Given the description of an element on the screen output the (x, y) to click on. 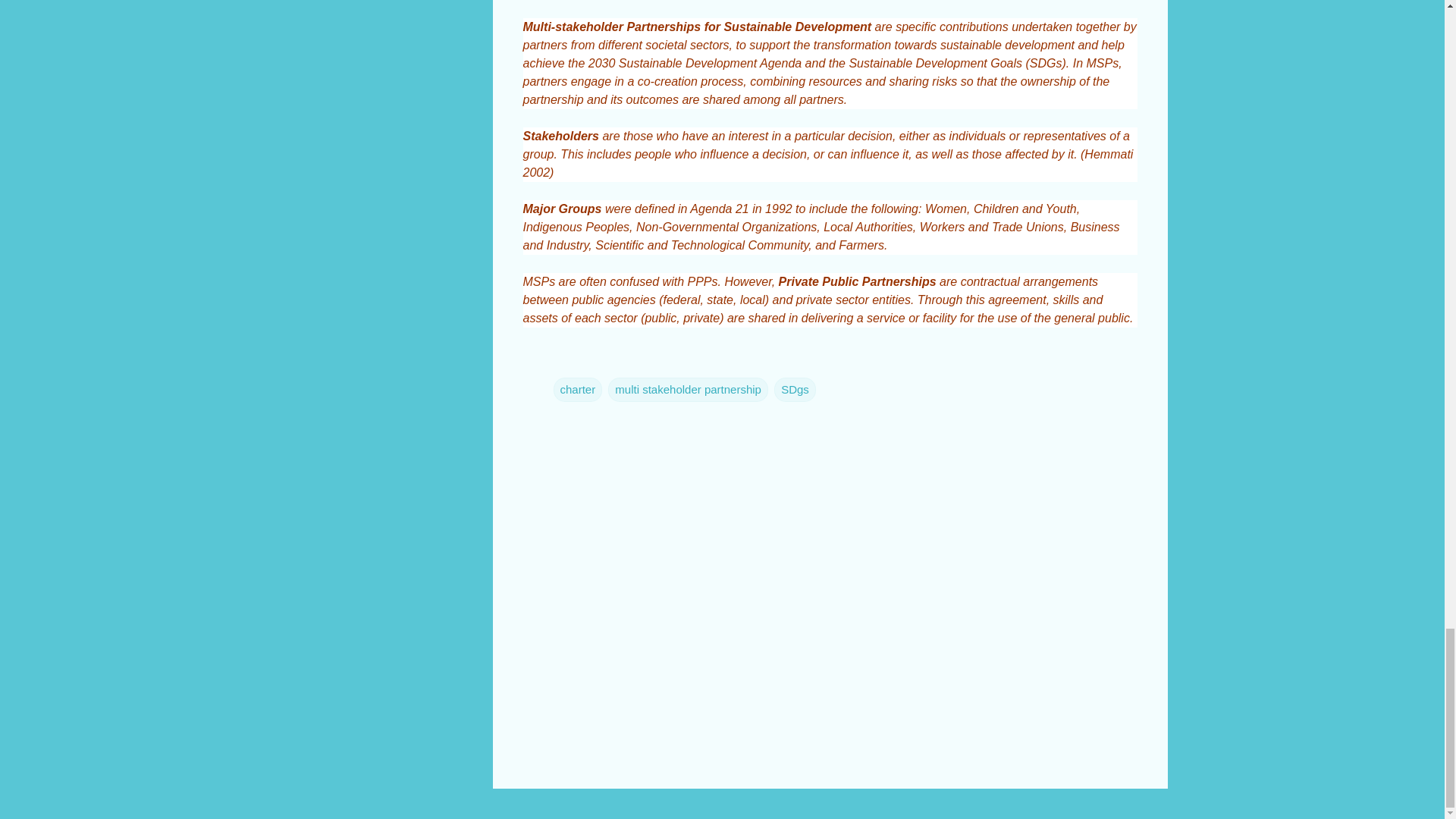
charter (577, 389)
multi stakeholder partnership (688, 389)
SDgs (794, 389)
